Given the description of an element on the screen output the (x, y) to click on. 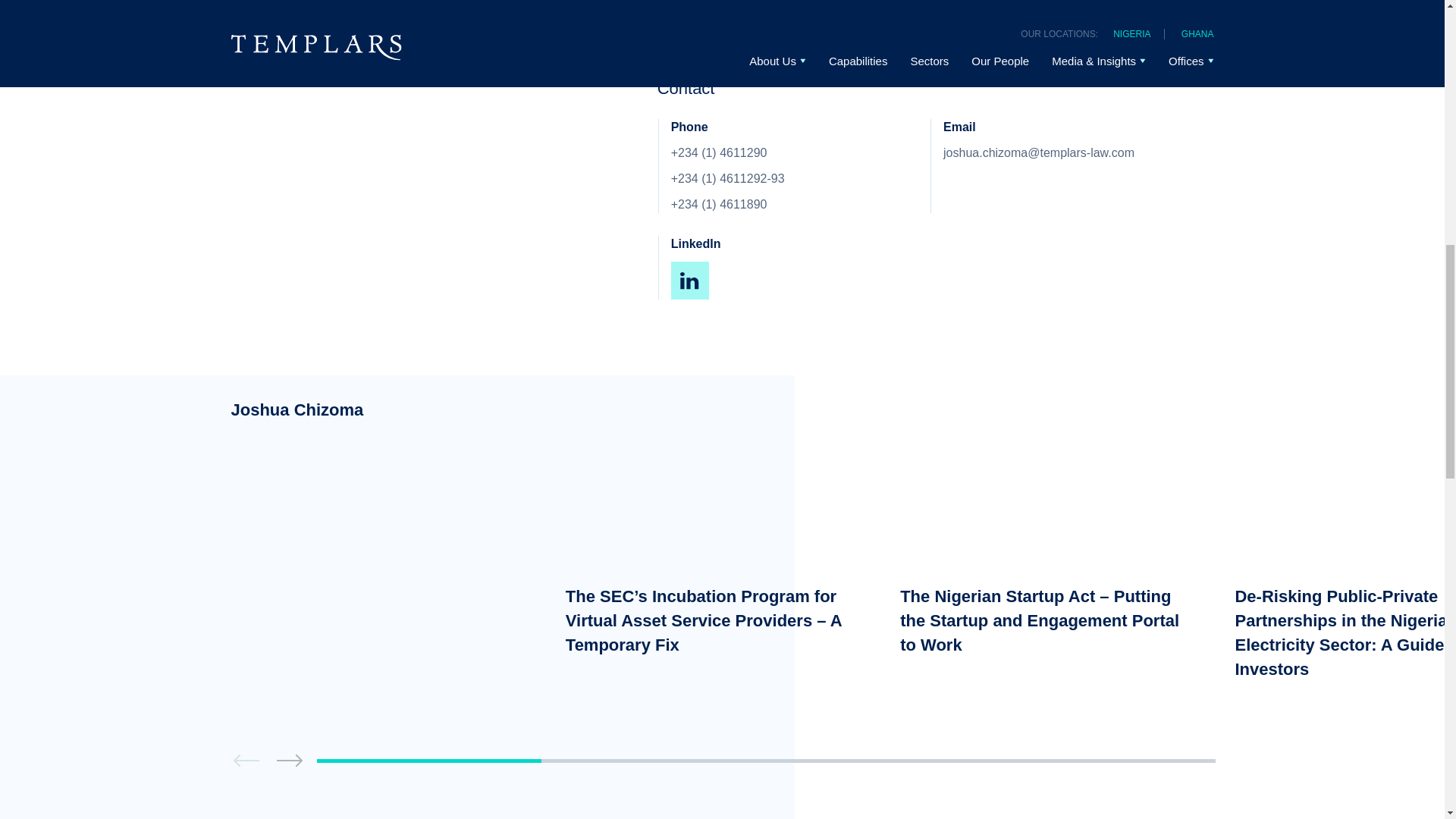
Next (289, 760)
Joshua Chizoma (379, 410)
Previous (247, 760)
